Given the description of an element on the screen output the (x, y) to click on. 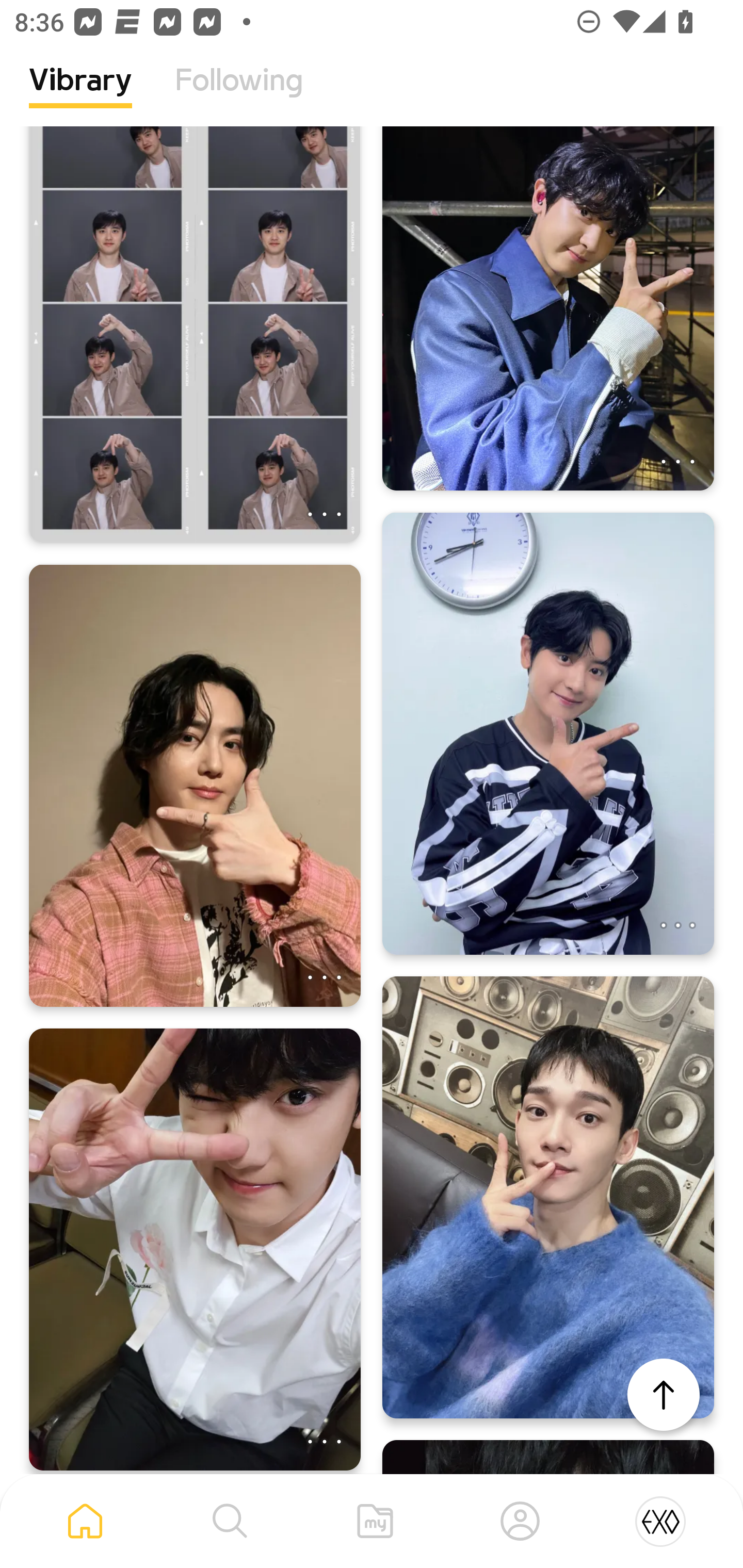
Vibrary (80, 95)
Following (239, 95)
